Given the description of an element on the screen output the (x, y) to click on. 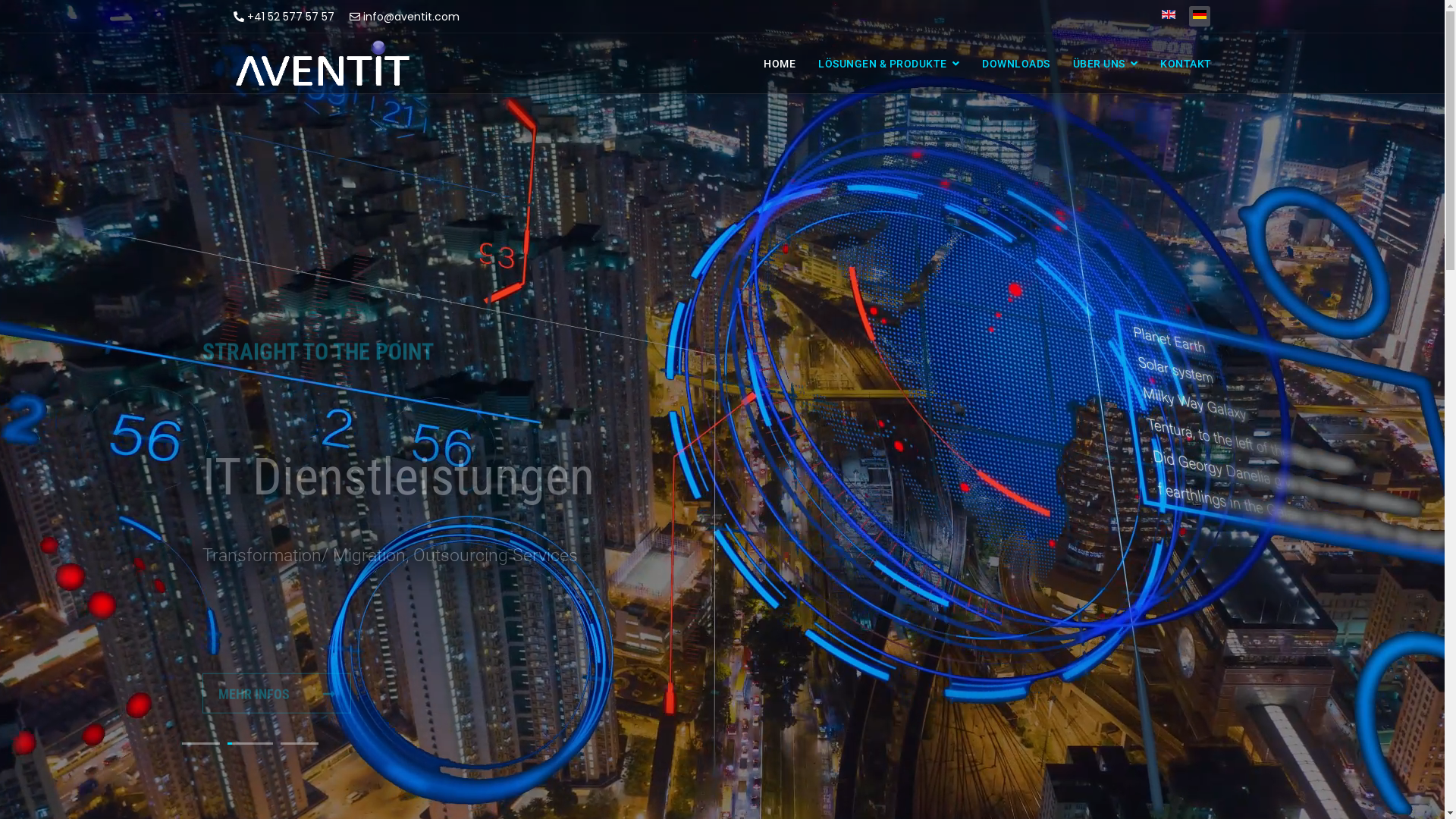
MEHR INFOS Element type: text (276, 620)
Deutsch (Deutschland) Element type: hover (1198, 13)
KONTAKT Element type: text (1185, 63)
HOME Element type: text (779, 63)
English (United Kingdom) Element type: hover (1168, 13)
info@aventit.com Element type: text (410, 16)
DOWNLOADS Element type: text (1015, 63)
+41 52 577 57 57 Element type: text (290, 16)
